Given the description of an element on the screen output the (x, y) to click on. 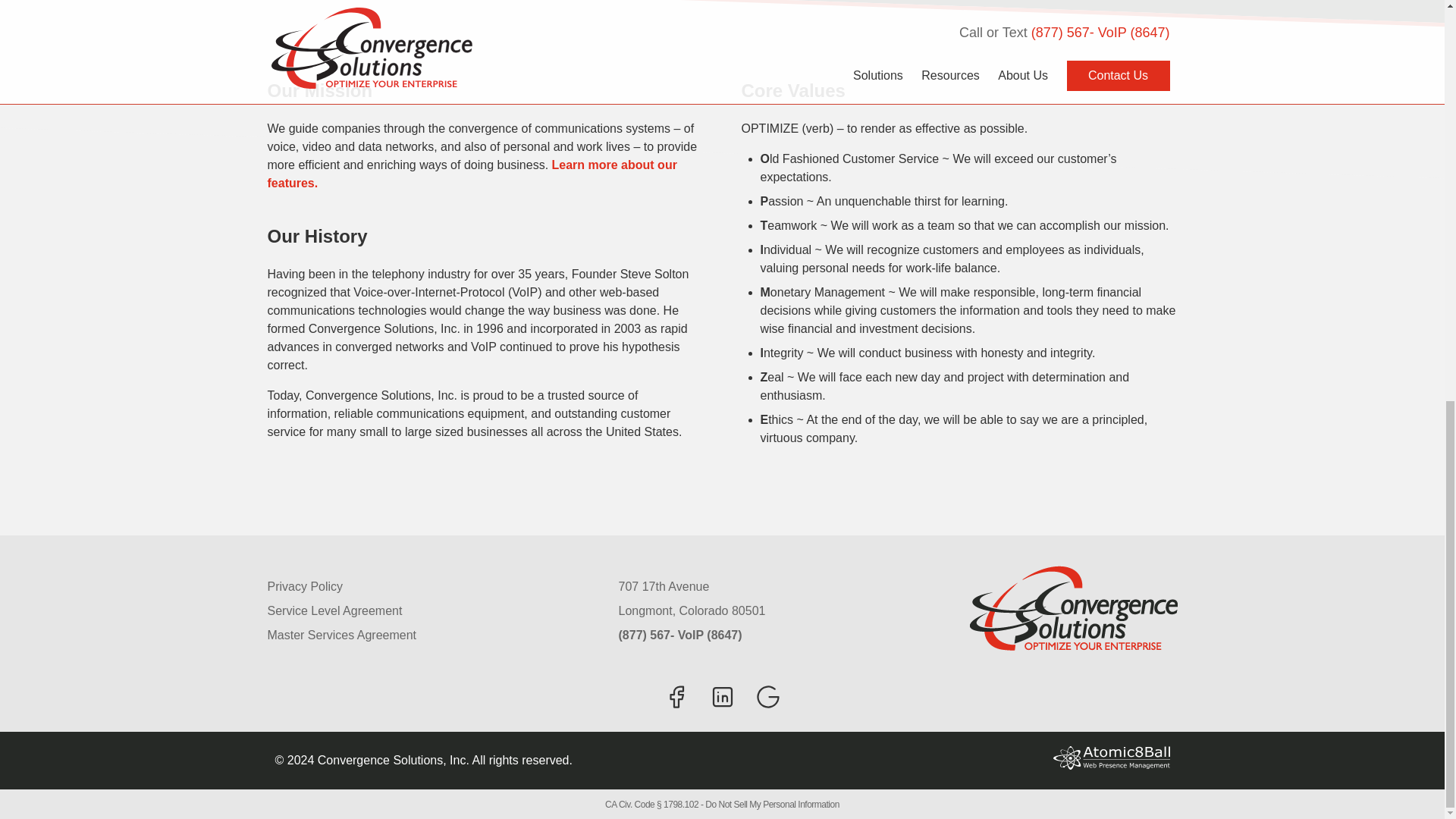
Do Not Sell My Personal Information (772, 804)
Google (767, 696)
Privacy Policy (430, 587)
Facebook (676, 696)
Service Level Agreement (430, 610)
Master Services Agreement (430, 635)
LinkedIn (721, 696)
Learn more about our features. (471, 173)
